Given the description of an element on the screen output the (x, y) to click on. 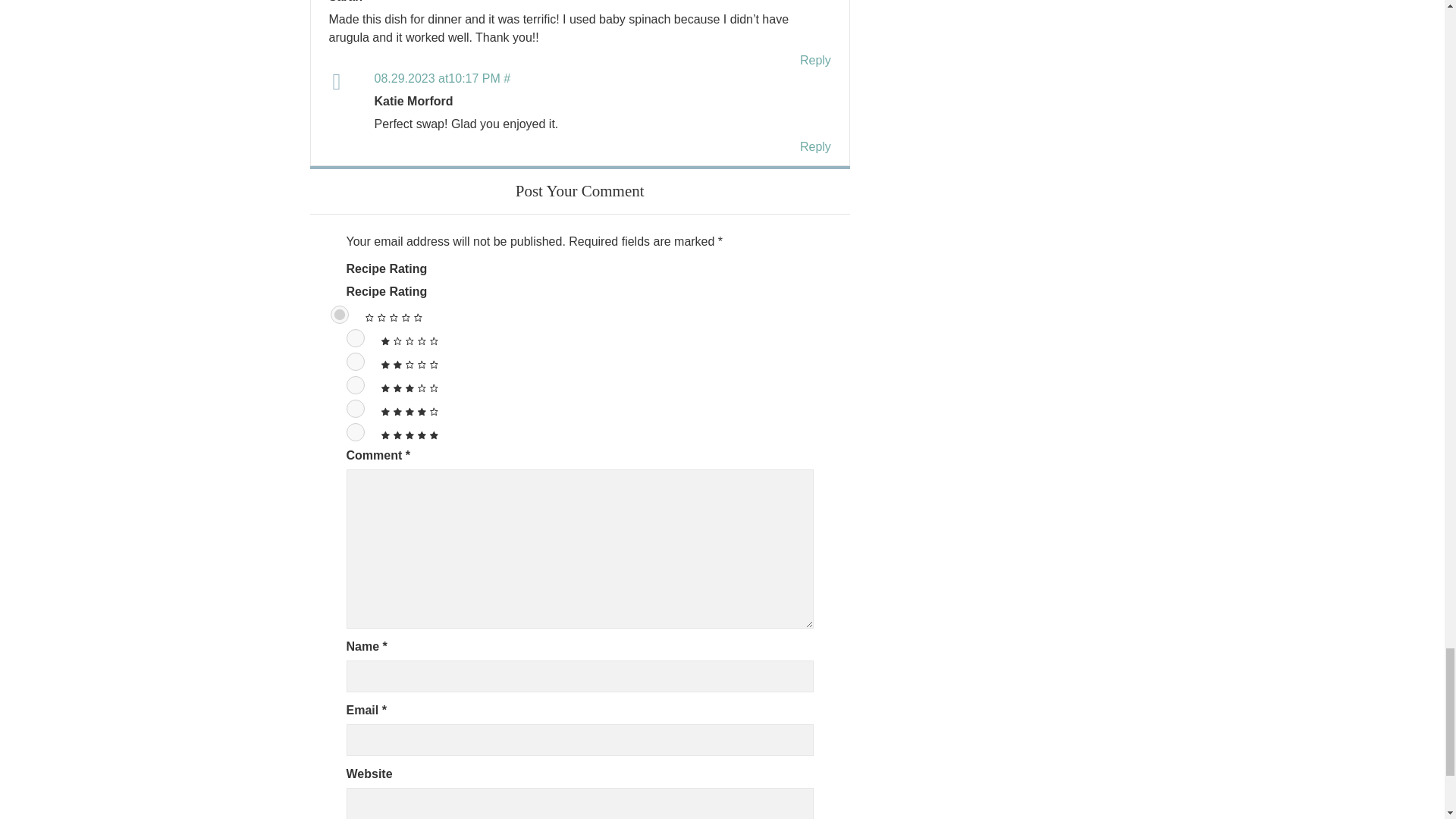
2 (355, 361)
1 (355, 338)
0 (339, 314)
5 (355, 432)
4 (355, 408)
3 (355, 384)
